Given the description of an element on the screen output the (x, y) to click on. 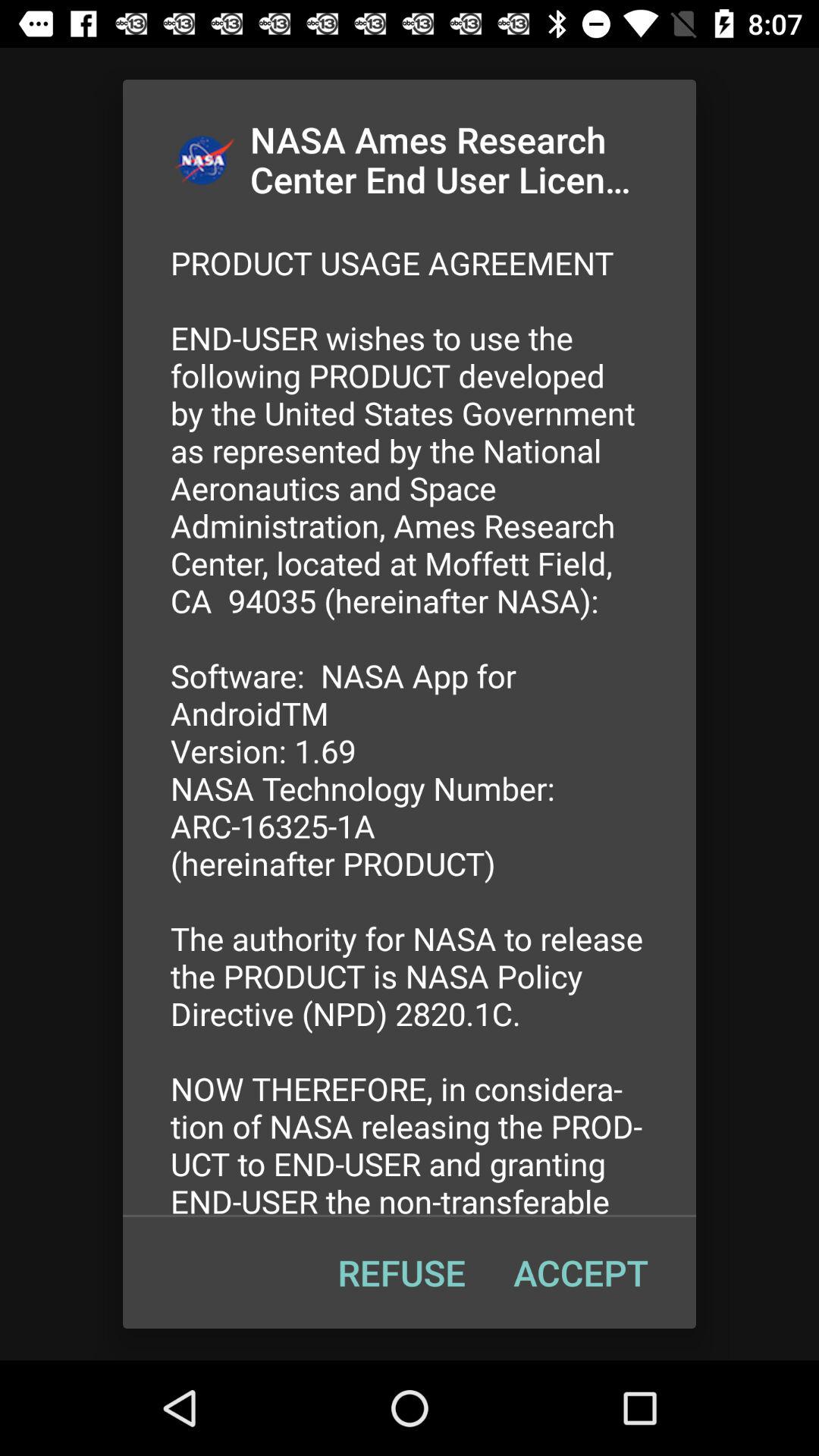
tap the accept icon (580, 1272)
